Given the description of an element on the screen output the (x, y) to click on. 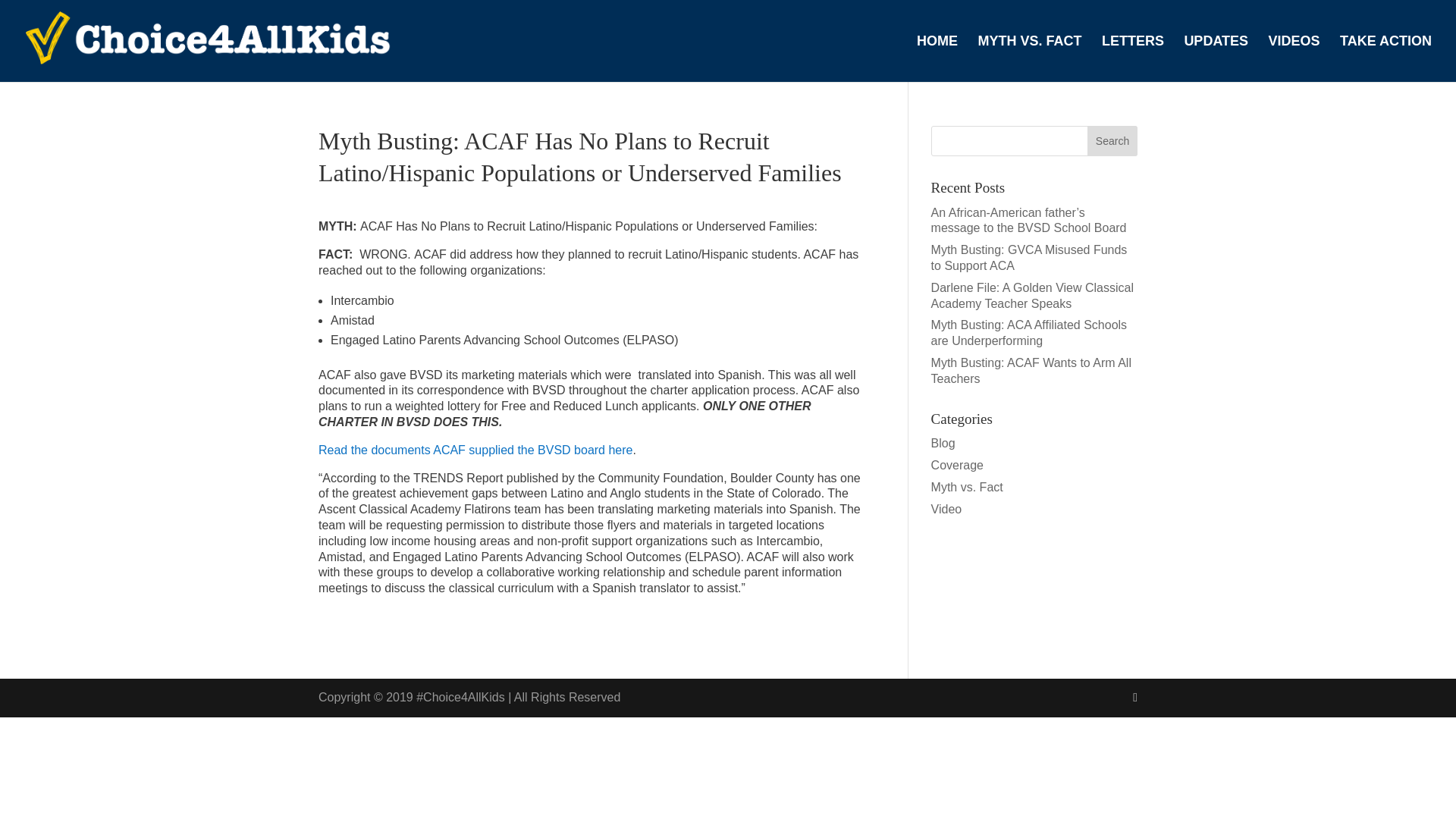
VIDEOS (1294, 58)
Myth Busting: GVCA Misused Funds to Support ACA (1028, 257)
MYTH VS. FACT (1028, 58)
UPDATES (1215, 58)
Myth Busting: ACAF Wants to Arm All Teachers (1031, 370)
Coverage (957, 464)
Myth Busting: ACA Affiliated Schools are Underperforming (1028, 332)
Video (946, 508)
Read the documents ACAF supplied the BVSD board here (474, 449)
Search (1112, 141)
Blog (943, 442)
Myth vs. Fact (967, 486)
Darlene File: A Golden View Classical Academy Teacher Speaks (1032, 295)
LETTERS (1132, 58)
Search (1112, 141)
